Given the description of an element on the screen output the (x, y) to click on. 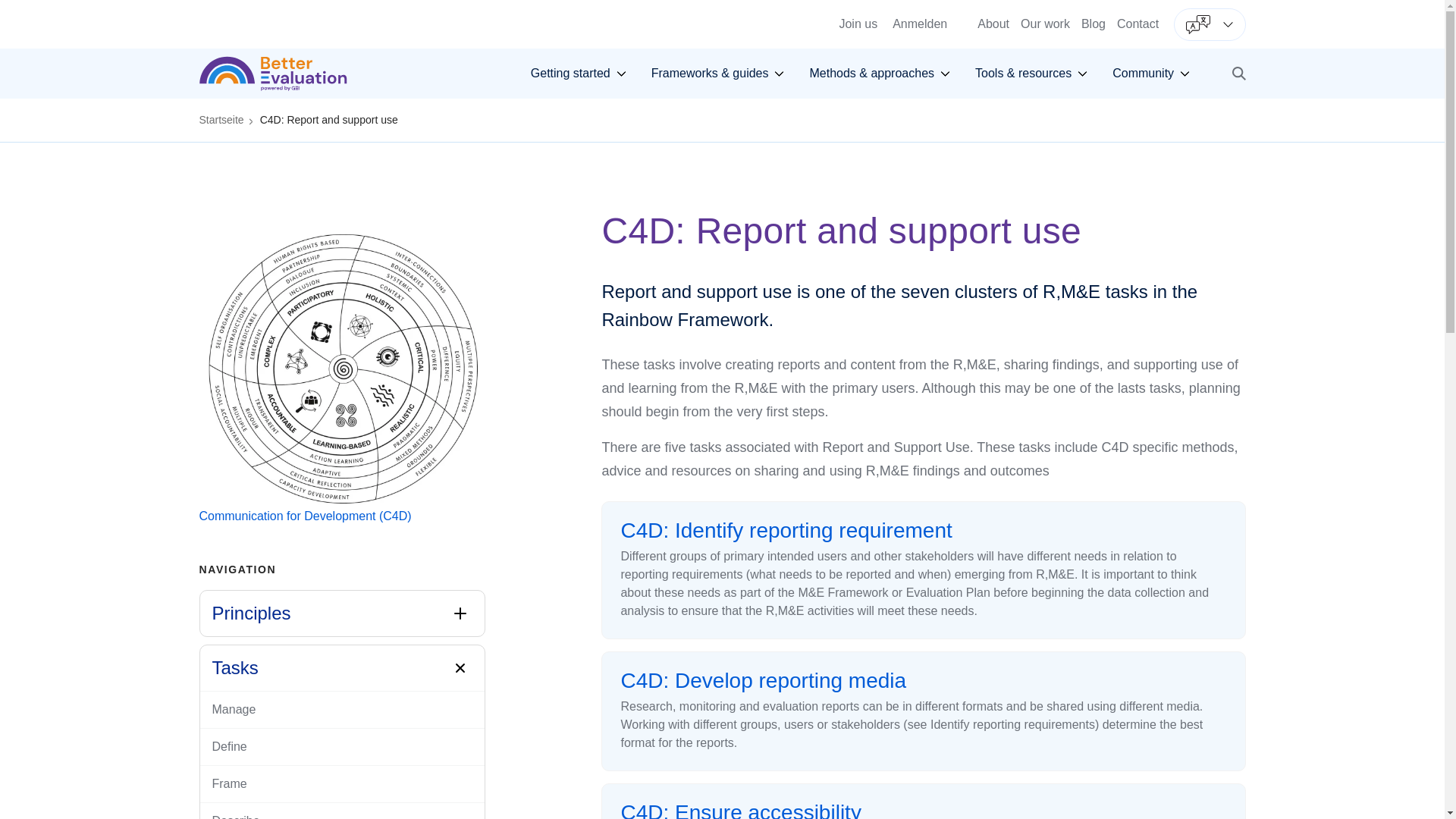
Our work (579, 73)
Contact (1045, 23)
Blog (1137, 23)
Join us (1093, 23)
About (857, 24)
Direkt zum Inhalt (992, 23)
Anmelden (722, 5)
